Given the description of an element on the screen output the (x, y) to click on. 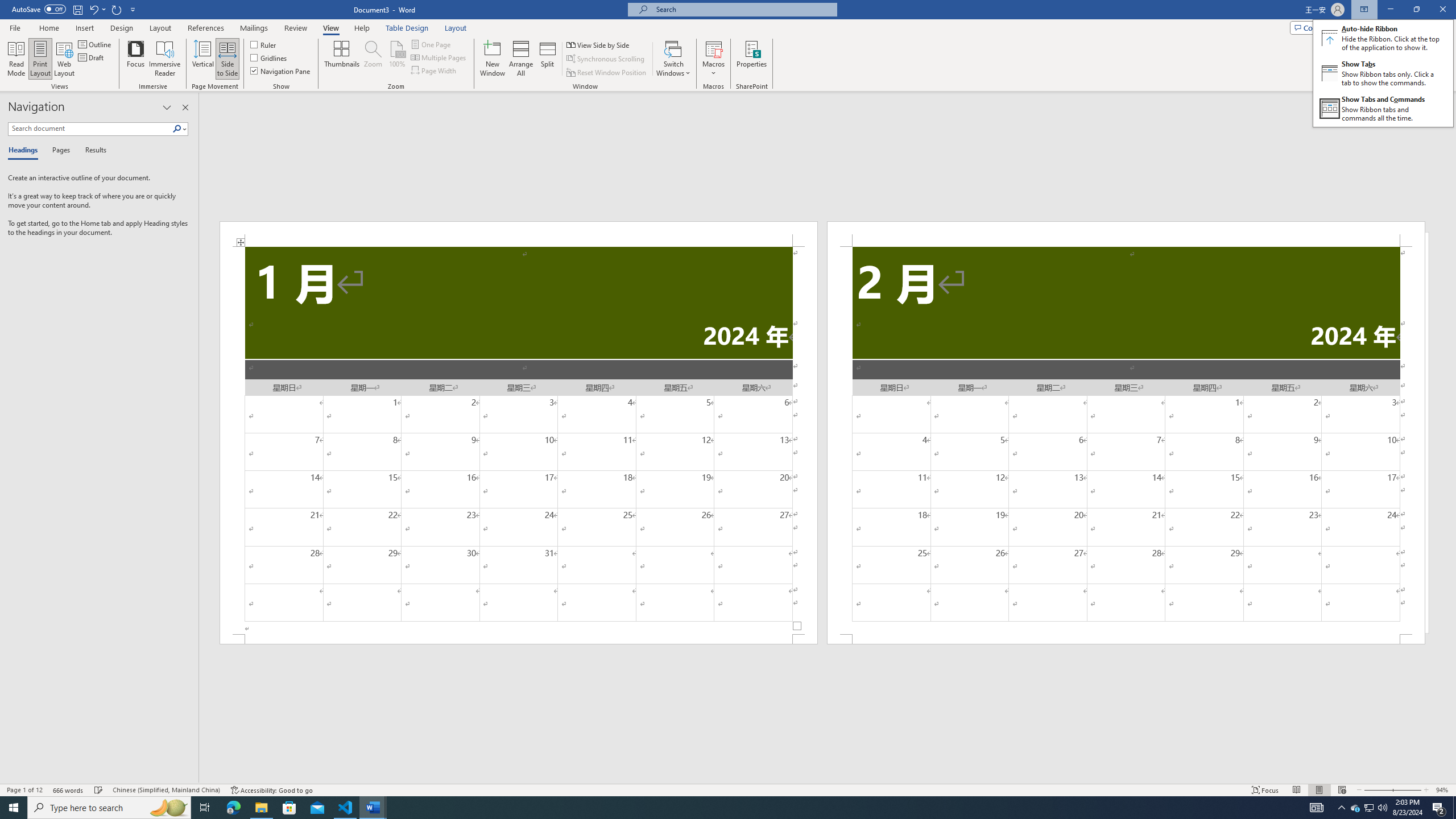
Search highlights icon opens search home window (167, 807)
Undo Increase Indent (1368, 807)
Zoom Out (92, 9)
Page 2 content (1377, 790)
Task View (1126, 439)
Customize Quick Access Toolbar (204, 807)
Word Count 666 words (133, 9)
Multiple Pages (68, 790)
Insert (439, 56)
Visual Studio Code - 1 running window (83, 28)
Focus  (345, 807)
